Given the description of an element on the screen output the (x, y) to click on. 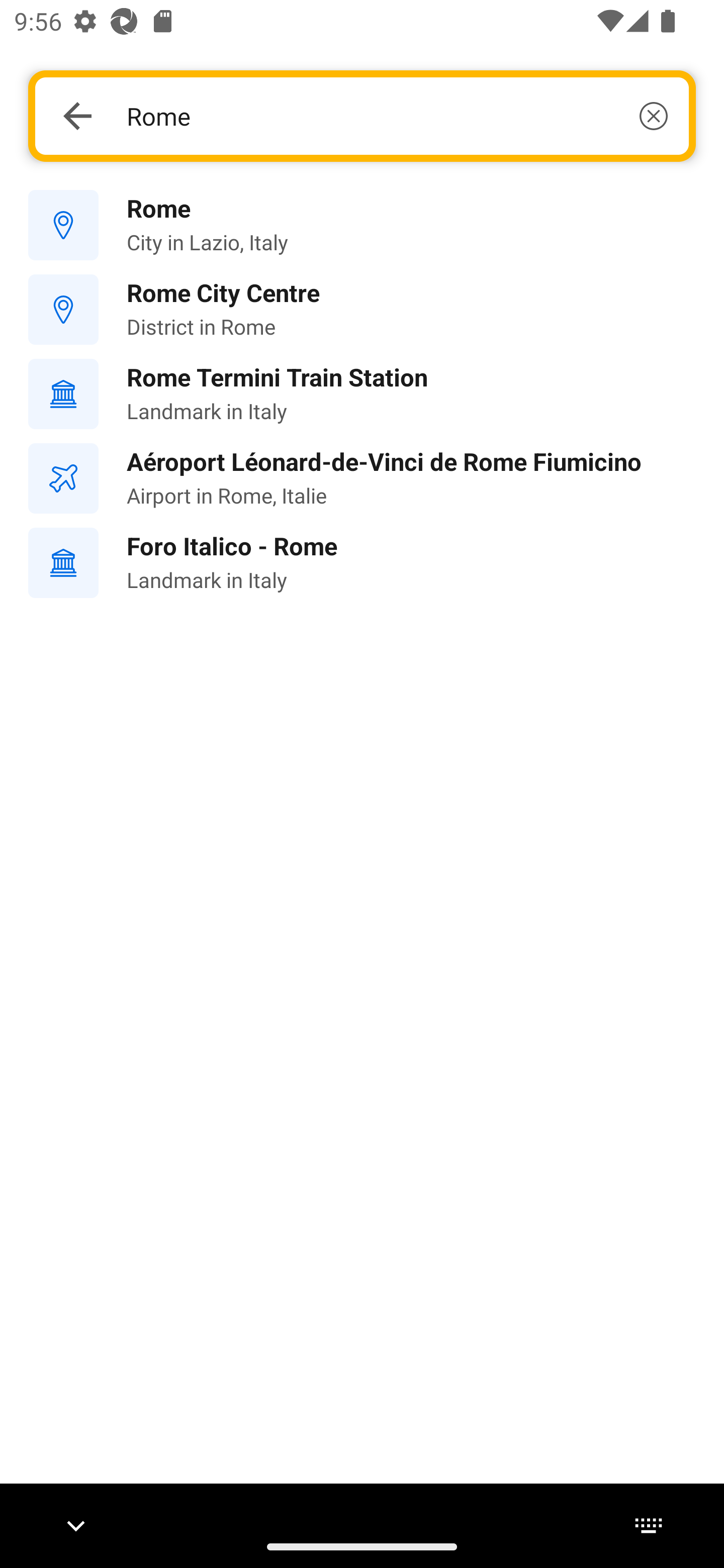
Rome (396, 115)
Rome City in Lazio, Italy (362, 225)
Rome City Centre District in Rome (362, 309)
Rome Termini Train Station Landmark in Italy (362, 393)
Foro Italico - Rome Landmark in Italy (362, 562)
